Given the description of an element on the screen output the (x, y) to click on. 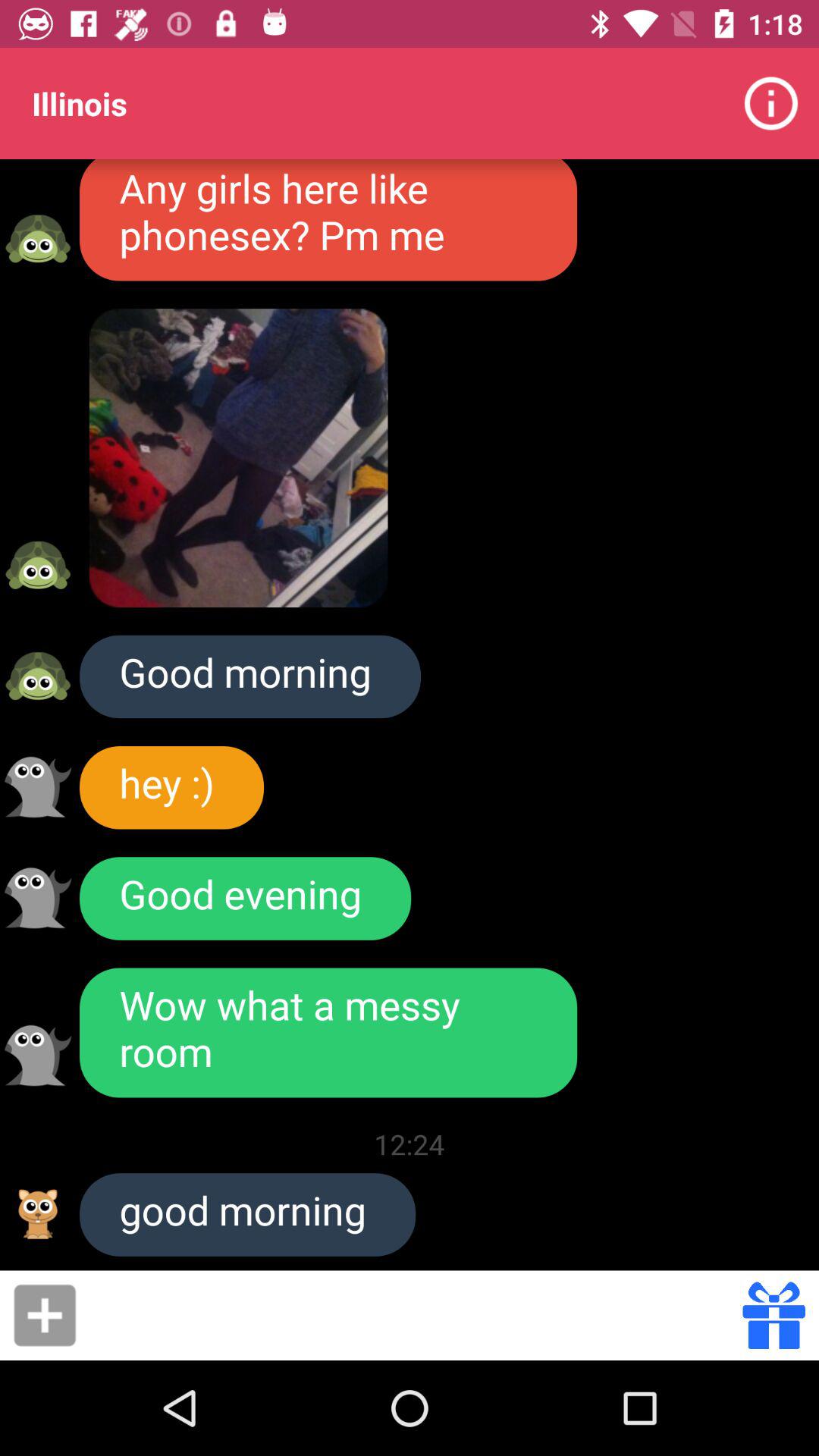
click item below hey :) (245, 898)
